Given the description of an element on the screen output the (x, y) to click on. 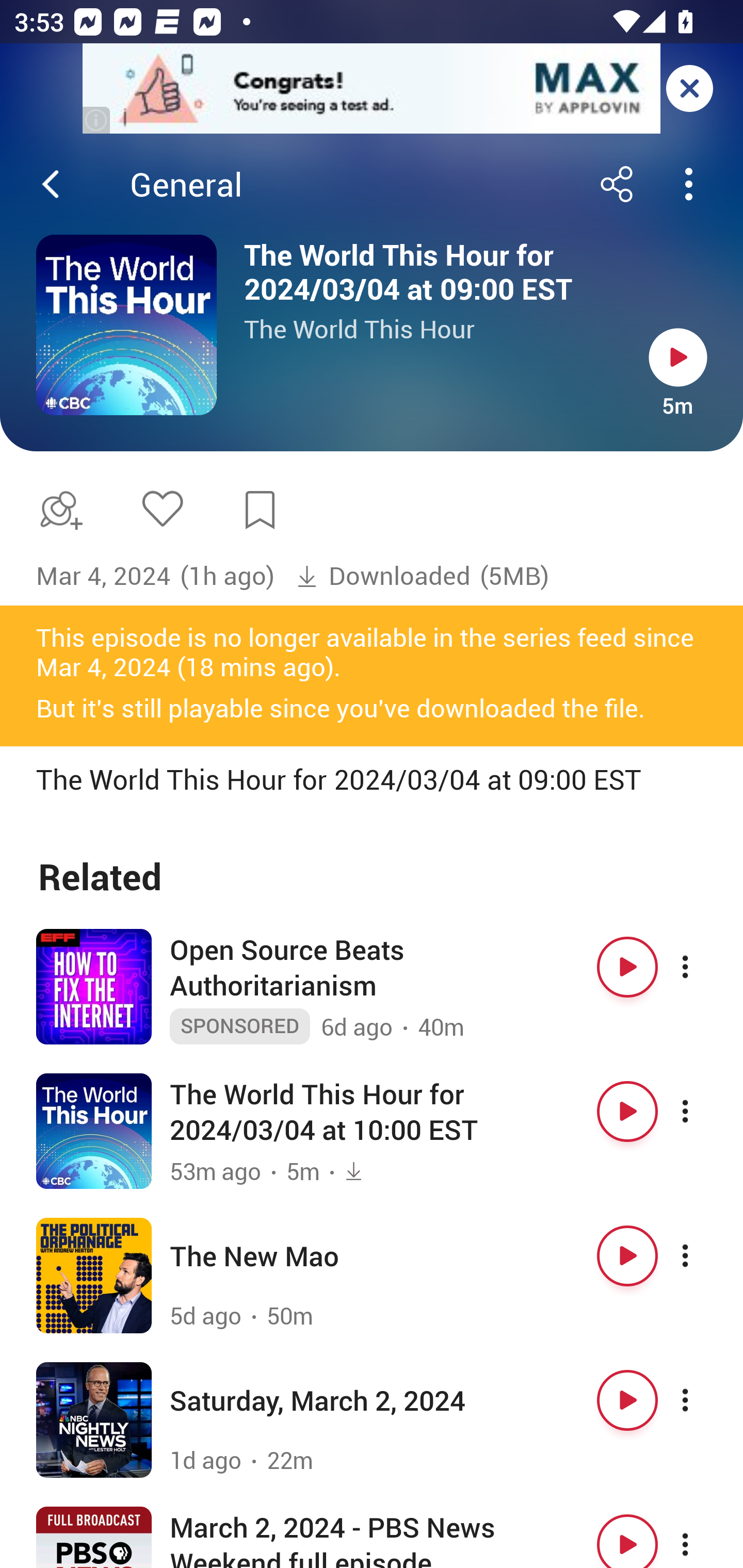
app-monetization (371, 88)
(i) (96, 119)
Back (50, 184)
Open series (126, 325)
Play button (677, 357)
Like (161, 507)
Add episode to Play Later (57, 509)
New bookmark … (259, 510)
Downloaded (383, 576)
Play button (627, 966)
More options (703, 966)
Play button (627, 1111)
More options (703, 1111)
Play button (627, 1255)
More options (703, 1255)
Play button (627, 1400)
More options (703, 1400)
Play button (627, 1536)
More options (703, 1536)
